Given the description of an element on the screen output the (x, y) to click on. 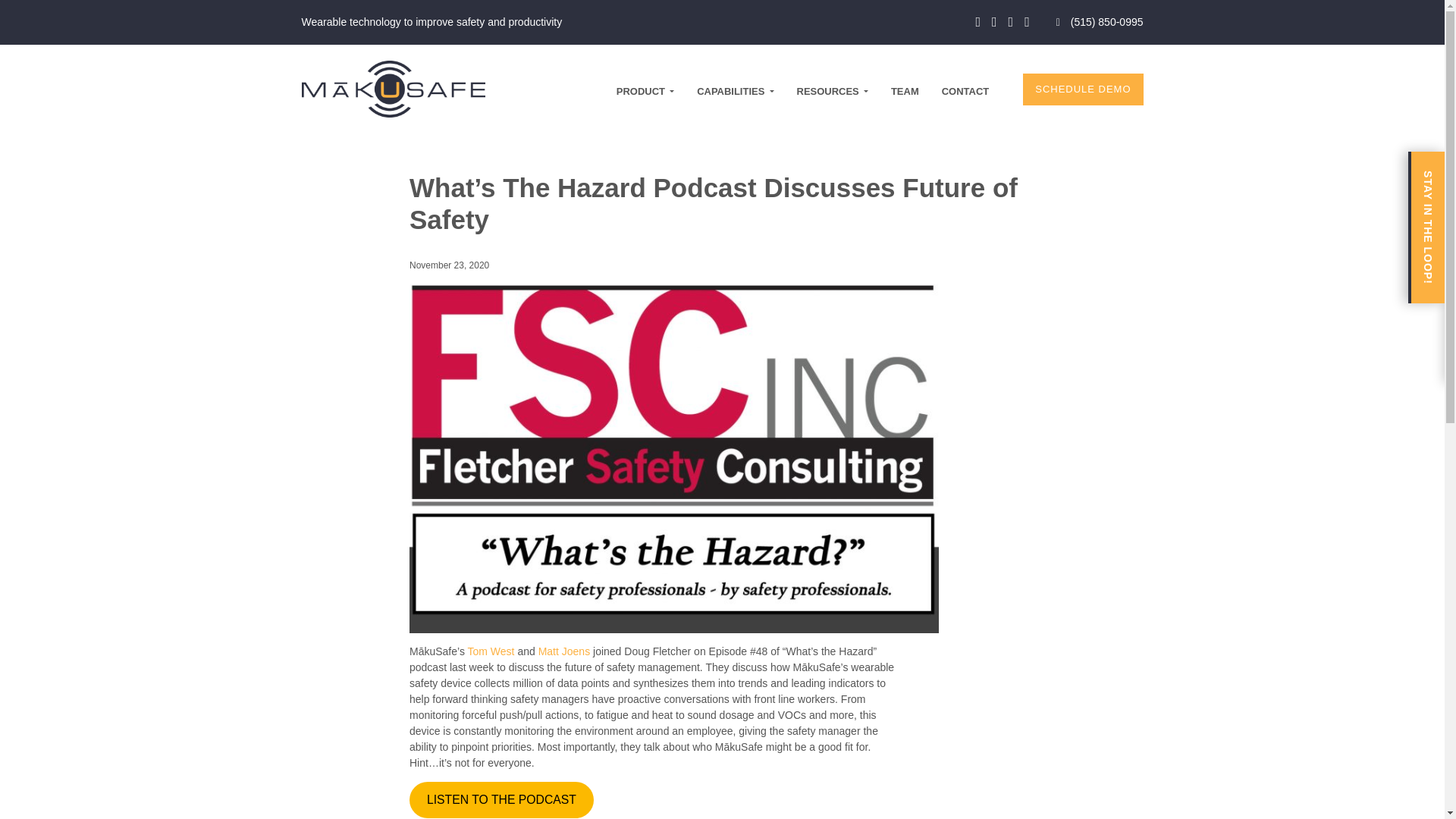
RESOURCES (831, 91)
LISTEN TO THE PODCAST (501, 800)
CAPABILITIES (735, 91)
PRODUCT (644, 91)
TEAM (904, 91)
CONTACT (966, 91)
Tom West (491, 651)
SCHEDULE DEMO (1082, 89)
Matt Joens (563, 651)
